Given the description of an element on the screen output the (x, y) to click on. 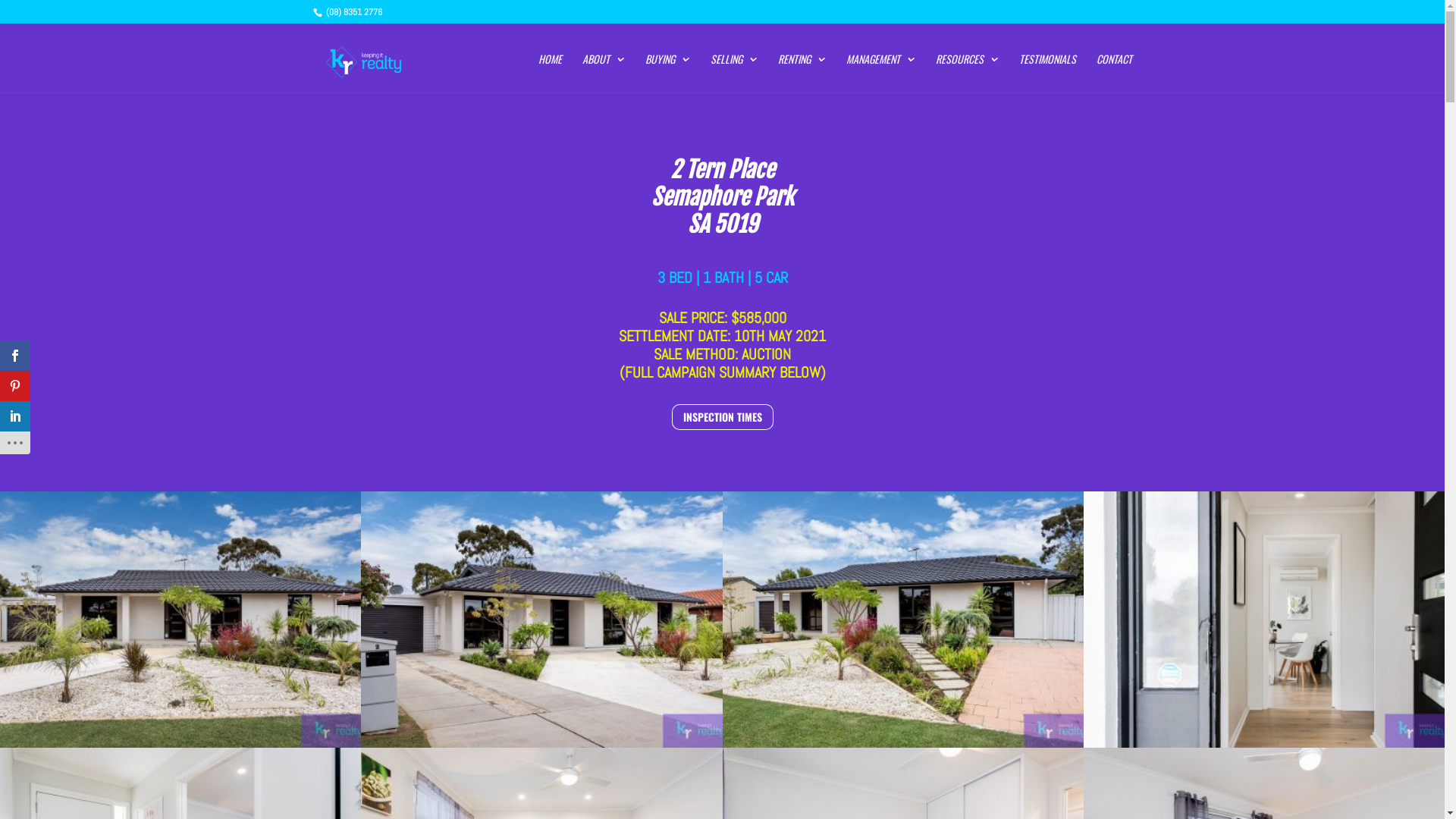
HOME Element type: text (549, 73)
RESOURCES Element type: text (966, 73)
RENTING Element type: text (801, 73)
INSPECTION TIMES Element type: text (722, 416)
2 Tern Place, Semaphore Park - 02 Element type: hover (540, 747)
MANAGEMENT Element type: text (880, 73)
TESTIMONIALS Element type: text (1047, 73)
(08) 8351 2776 Element type: text (352, 12)
2 Tern Place, Semaphore Park - 04 Element type: hover (1263, 747)
SELLING Element type: text (732, 73)
ABOUT Element type: text (603, 73)
BUYING Element type: text (666, 73)
2 Tern Place, Semaphore Park - 03 Element type: hover (901, 747)
2 Tern Place, Semaphore Park - 01 Element type: hover (180, 747)
CONTACT Element type: text (1114, 73)
